Given the description of an element on the screen output the (x, y) to click on. 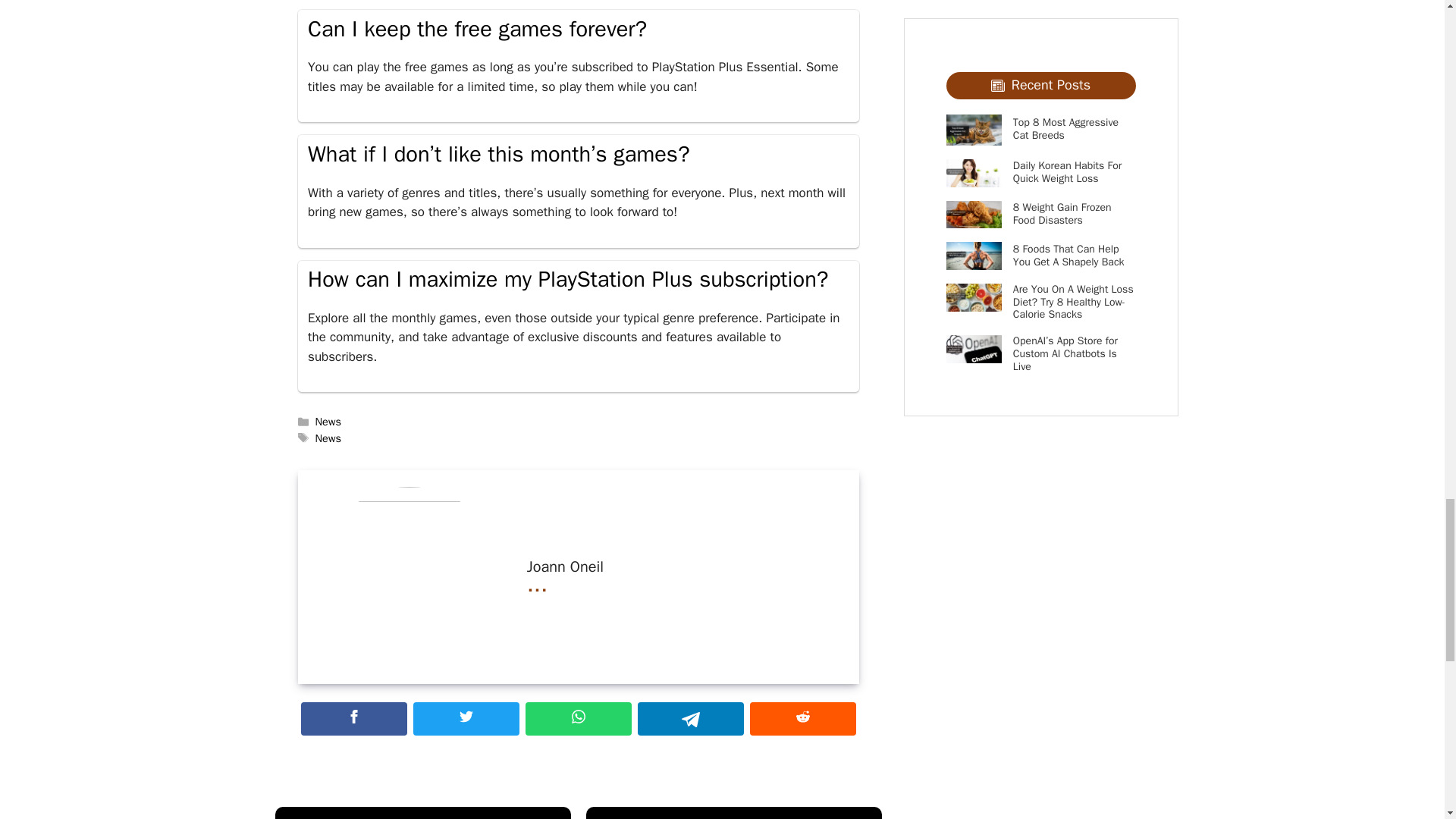
News (327, 438)
News (327, 421)
